Given the description of an element on the screen output the (x, y) to click on. 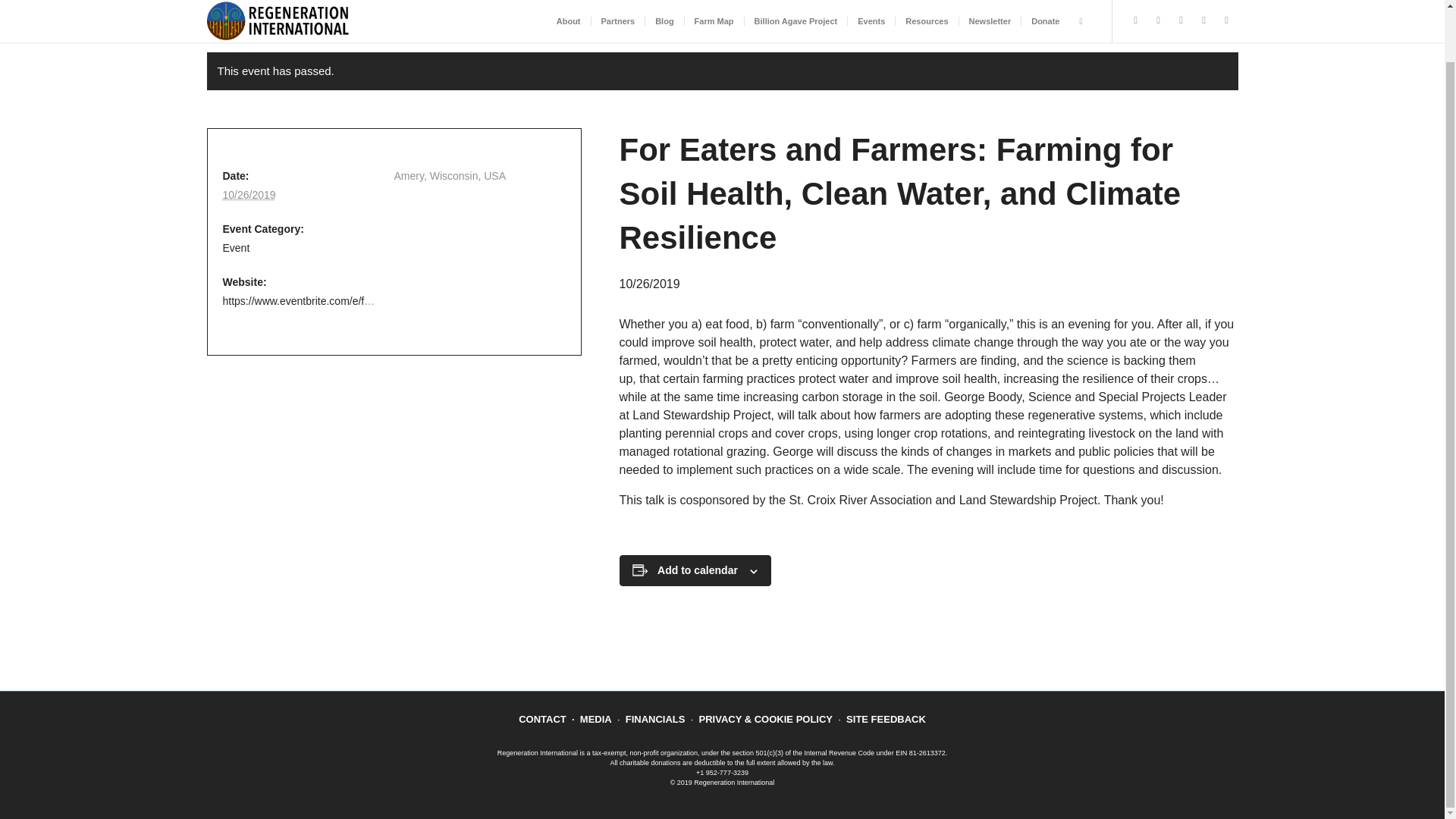
Event (236, 247)
Click Here. (524, 33)
2019-10-26 (249, 194)
Add to calendar (698, 570)
